Given the description of an element on the screen output the (x, y) to click on. 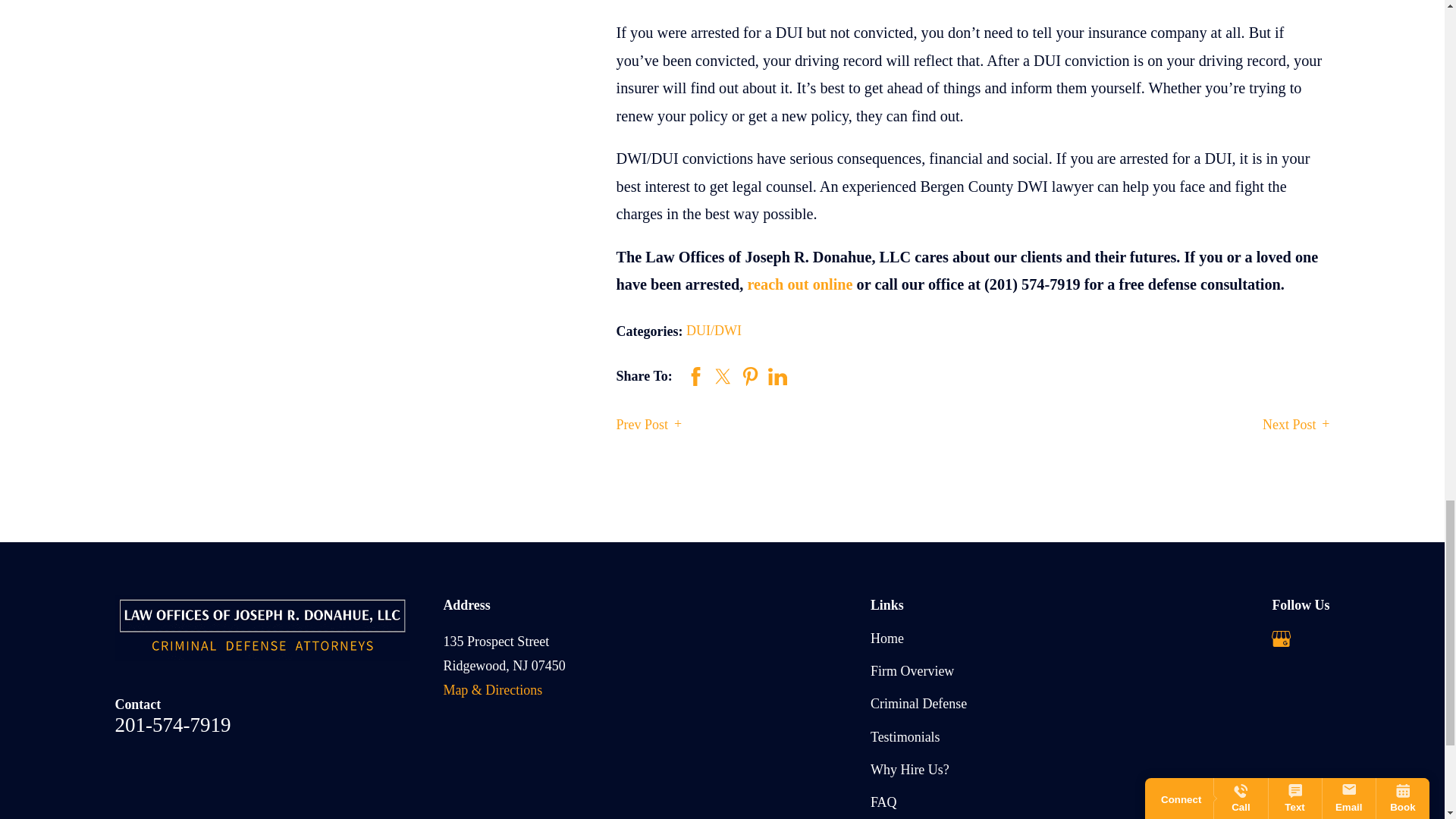
Home (267, 627)
Law Offices of Joseph R. Donahue, LLC (262, 627)
Google Business Profile (1280, 638)
